Given the description of an element on the screen output the (x, y) to click on. 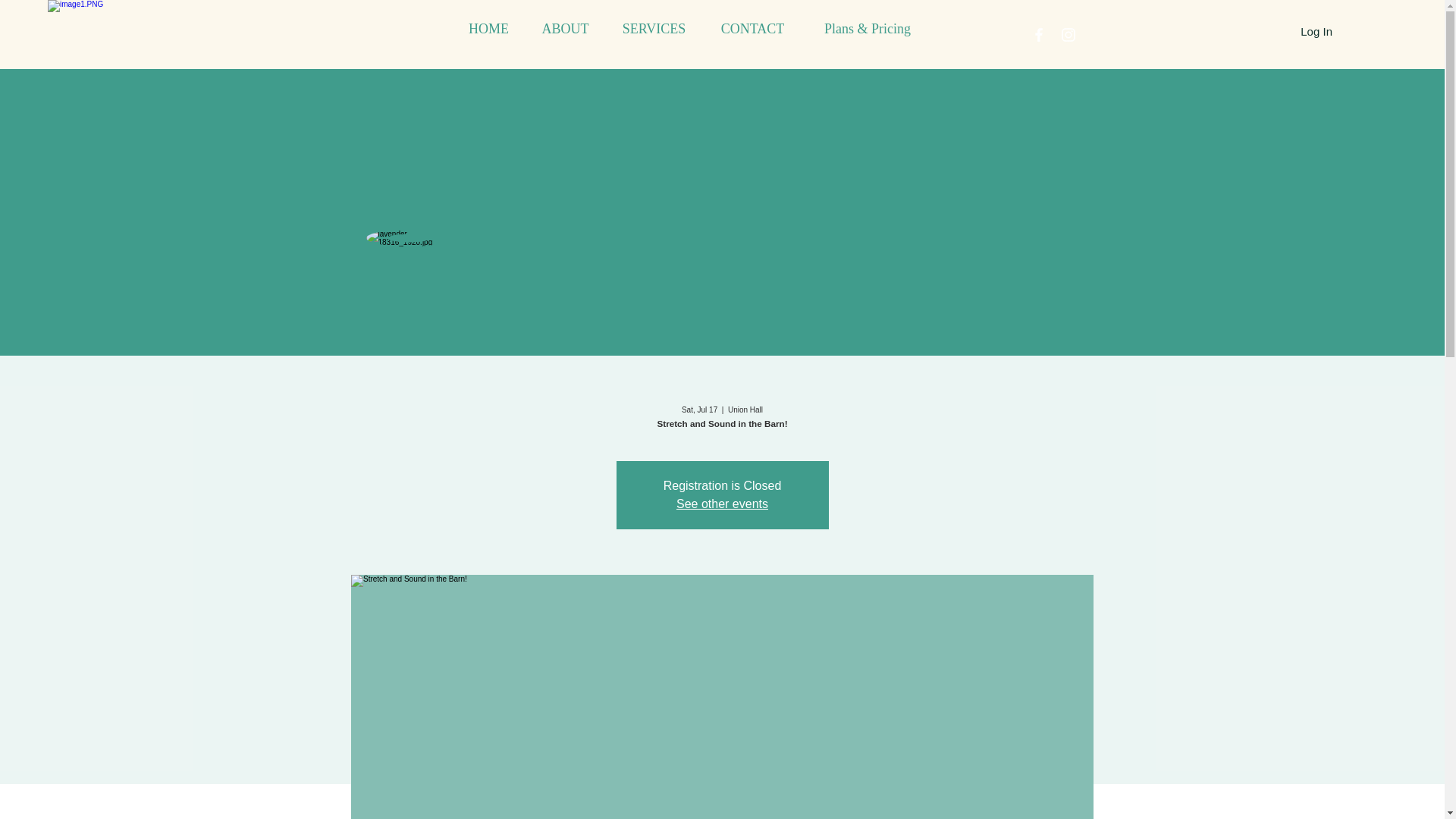
ABOUT (565, 28)
Log In (1316, 30)
SERVICES (654, 28)
CONTACT (752, 28)
HOME (488, 28)
See other events (722, 503)
